Given the description of an element on the screen output the (x, y) to click on. 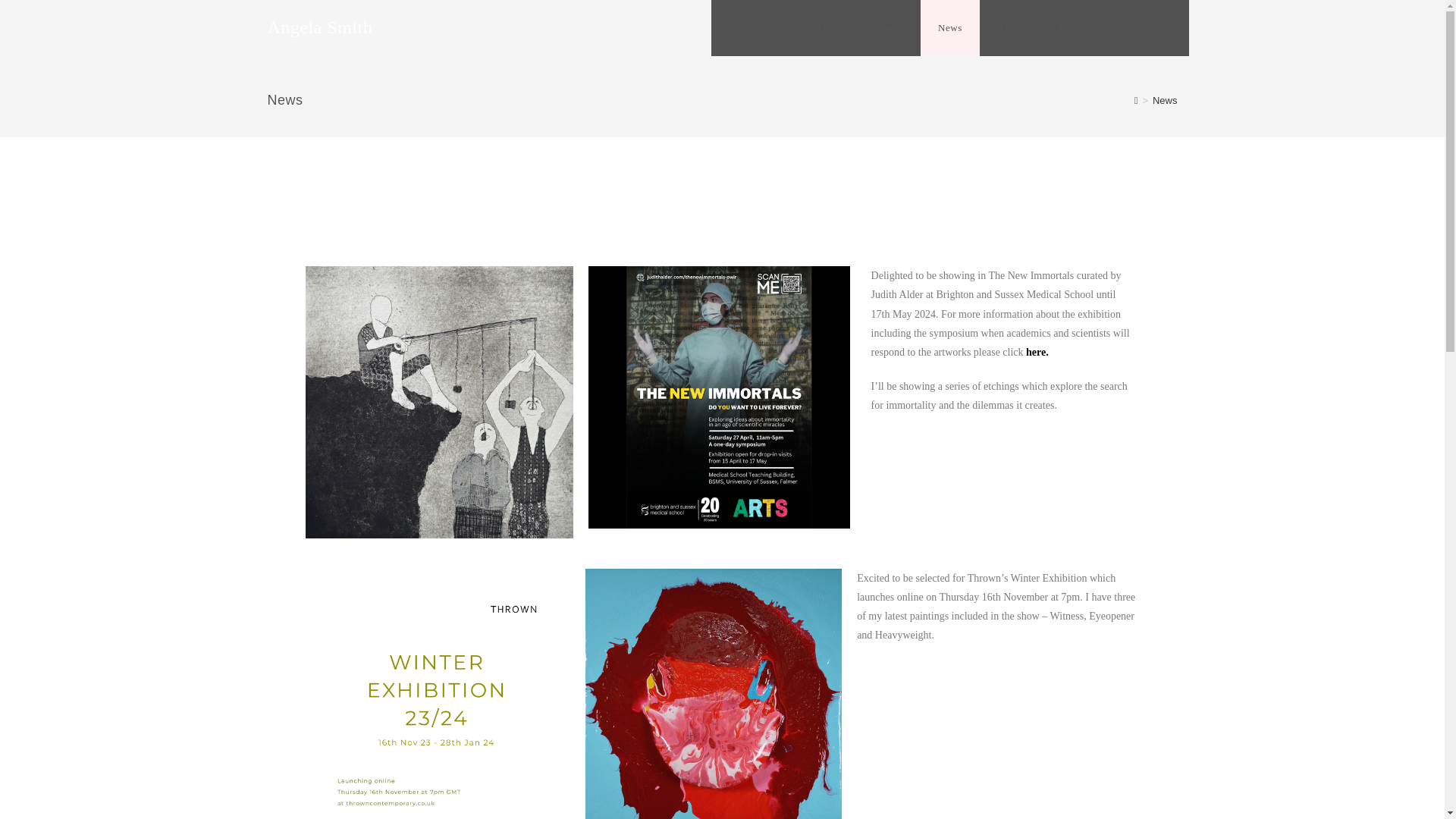
Home (741, 28)
here. (1037, 351)
Contact (1154, 28)
Creatures (882, 28)
Instagram (1080, 28)
News (949, 28)
About (1010, 28)
Abstract (807, 28)
Angela Smith (319, 26)
News (1165, 100)
